Given the description of an element on the screen output the (x, y) to click on. 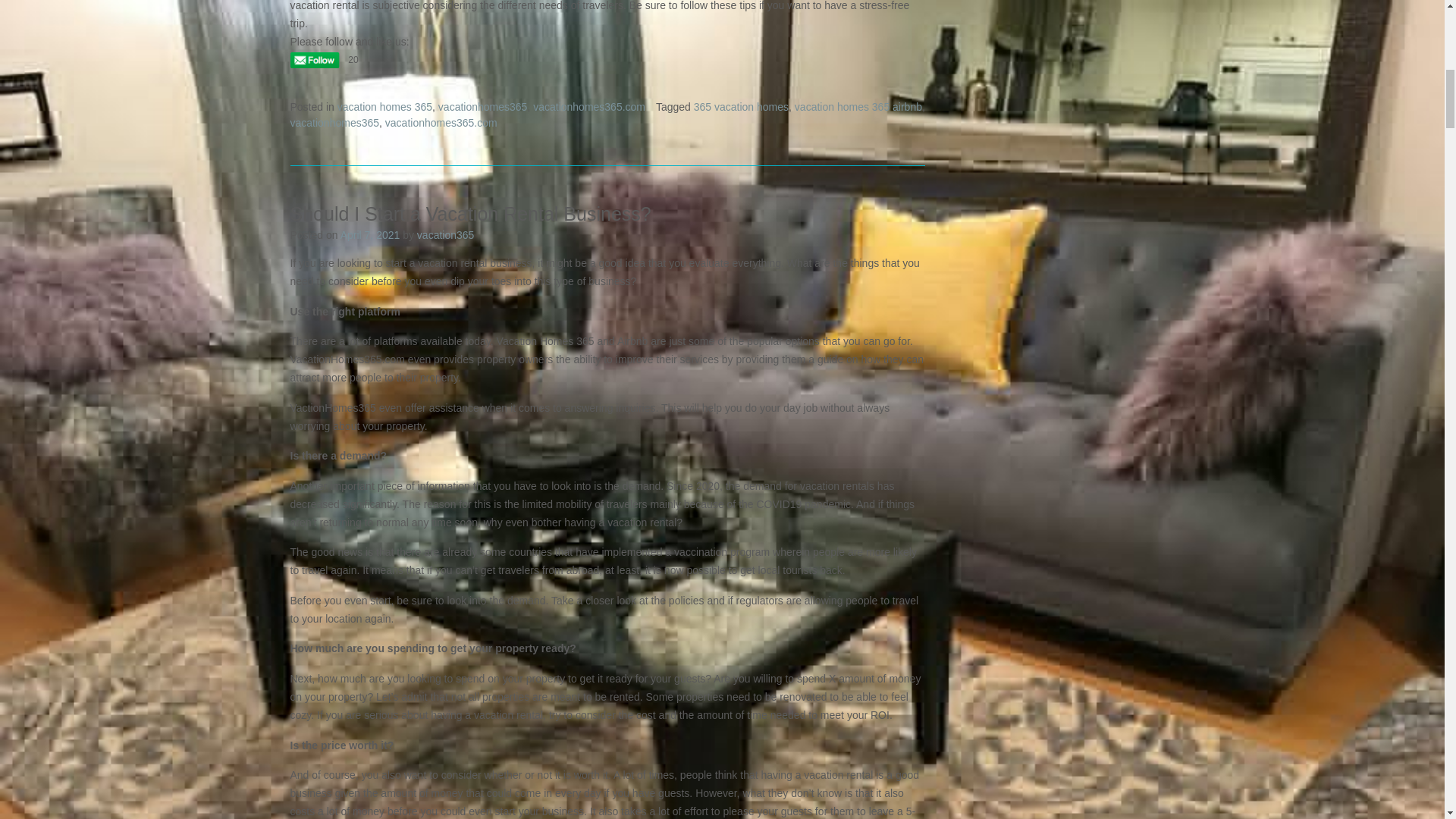
vacationhomes365.com (588, 106)
vacation homes 365 airbnb (857, 106)
vacationhomes365.com (441, 122)
vacation homes 365 (384, 106)
vacation365 (445, 234)
365 vacation homes (741, 106)
April 7, 2021 (370, 234)
Should I Start a Vacation Rental Business? (469, 213)
vacationhomes365 (333, 122)
vacationhomes365 (482, 106)
